Given the description of an element on the screen output the (x, y) to click on. 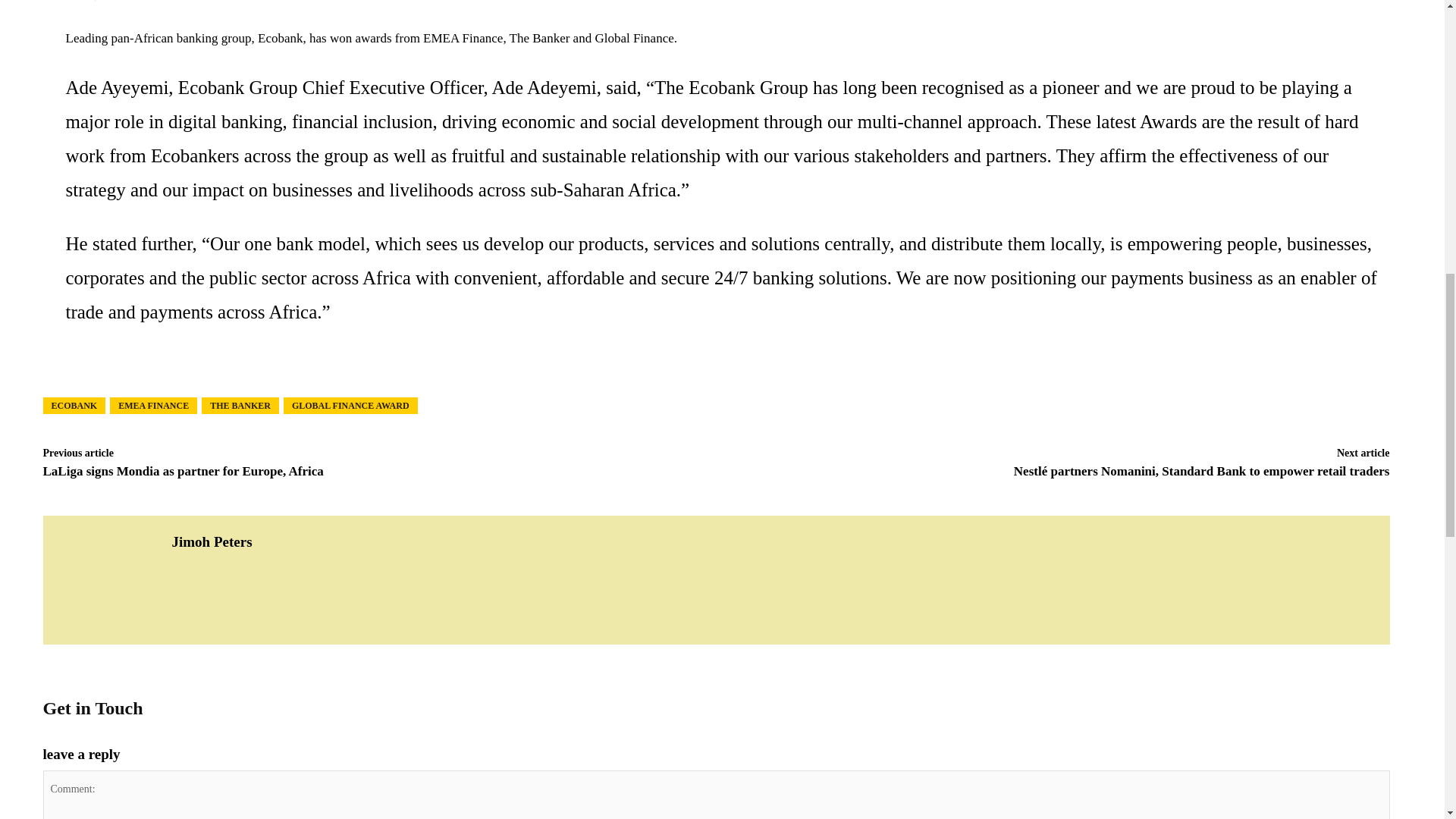
EMEA FINANCE (153, 405)
ECOBANK (73, 405)
